Given the description of an element on the screen output the (x, y) to click on. 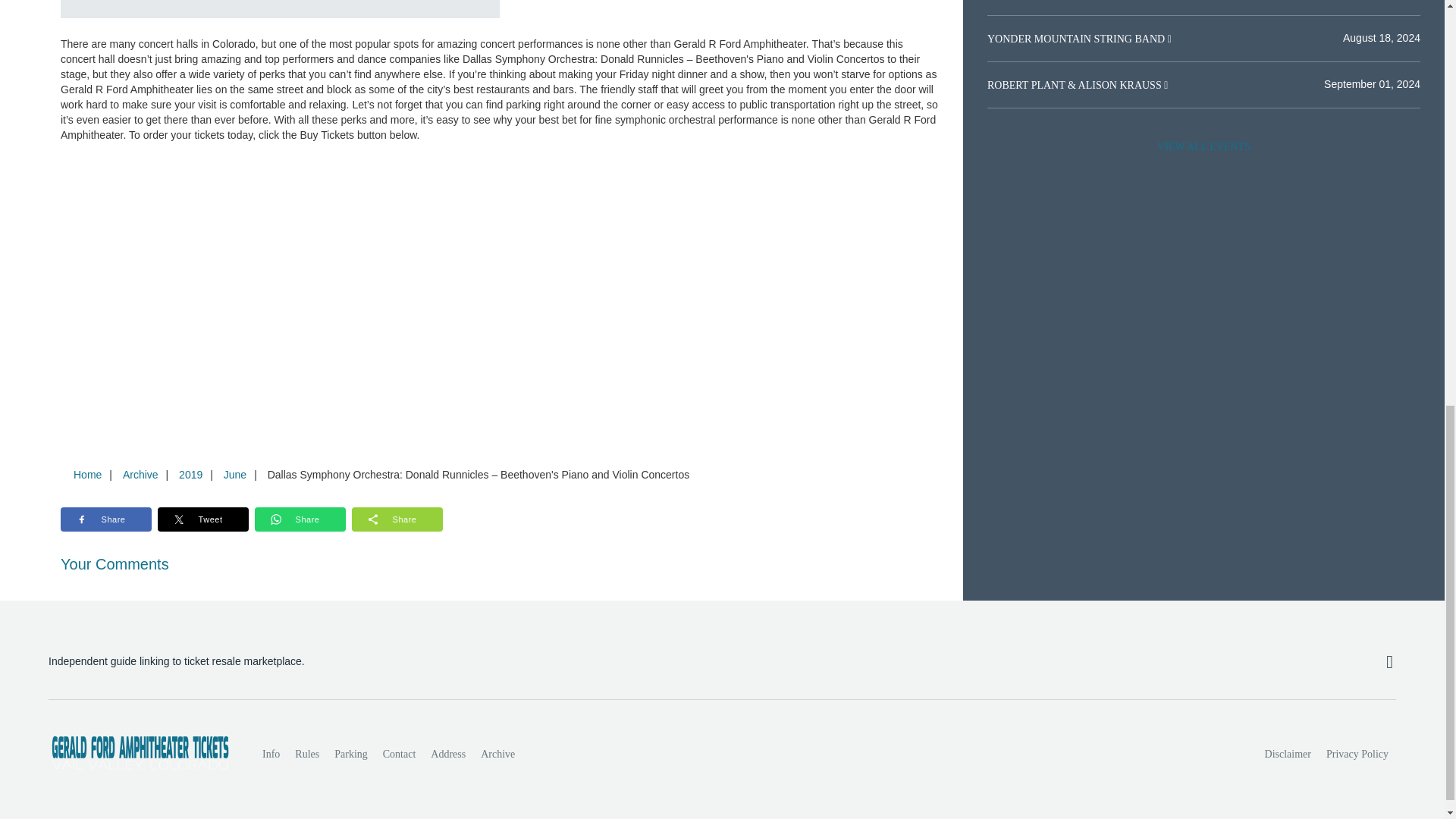
VIEW ALL EVENTS (1203, 146)
Privacy Policy (1357, 754)
Archive (140, 474)
June (234, 474)
Address (448, 754)
Parking (350, 754)
Contact (399, 754)
Archive (497, 754)
Rules (306, 754)
Home (87, 474)
